Given the description of an element on the screen output the (x, y) to click on. 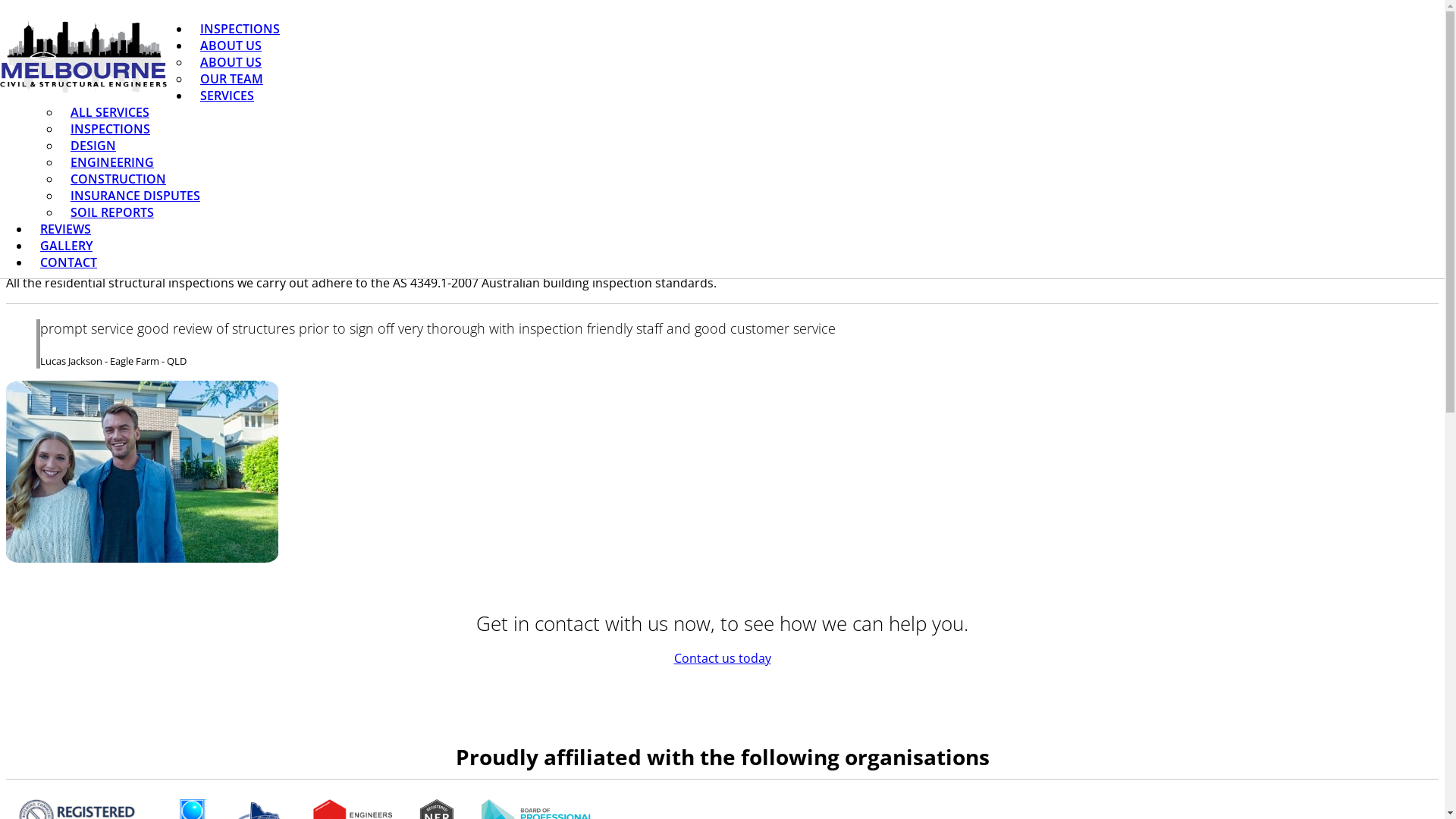
INSPECTIONS Element type: text (109, 128)
CONSTRUCTION Element type: text (117, 178)
PrePurchase Inspections Element type: hover (142, 471)
ALL SERVICES Element type: text (109, 111)
ENGINEERING Element type: text (111, 161)
INSURANCE DISPUTES Element type: text (134, 195)
Home Element type: text (1335, 48)
ABOUT US Element type: text (232, 45)
INSPECTIONS Element type: text (239, 28)
OUR TEAM Element type: text (231, 78)
GALLERY Element type: text (66, 245)
Inspections Element type: text (1346, 61)
SOIL REPORTS Element type: text (111, 211)
DESIGN Element type: text (92, 145)
SERVICES Element type: text (229, 95)
Contact us today Element type: text (721, 657)
REVIEWS Element type: text (65, 228)
CONTACT Element type: text (68, 262)
Melbourne Civil & Structural Engineers Element type: hover (83, 57)
ABOUT US Element type: text (230, 61)
